Given the description of an element on the screen output the (x, y) to click on. 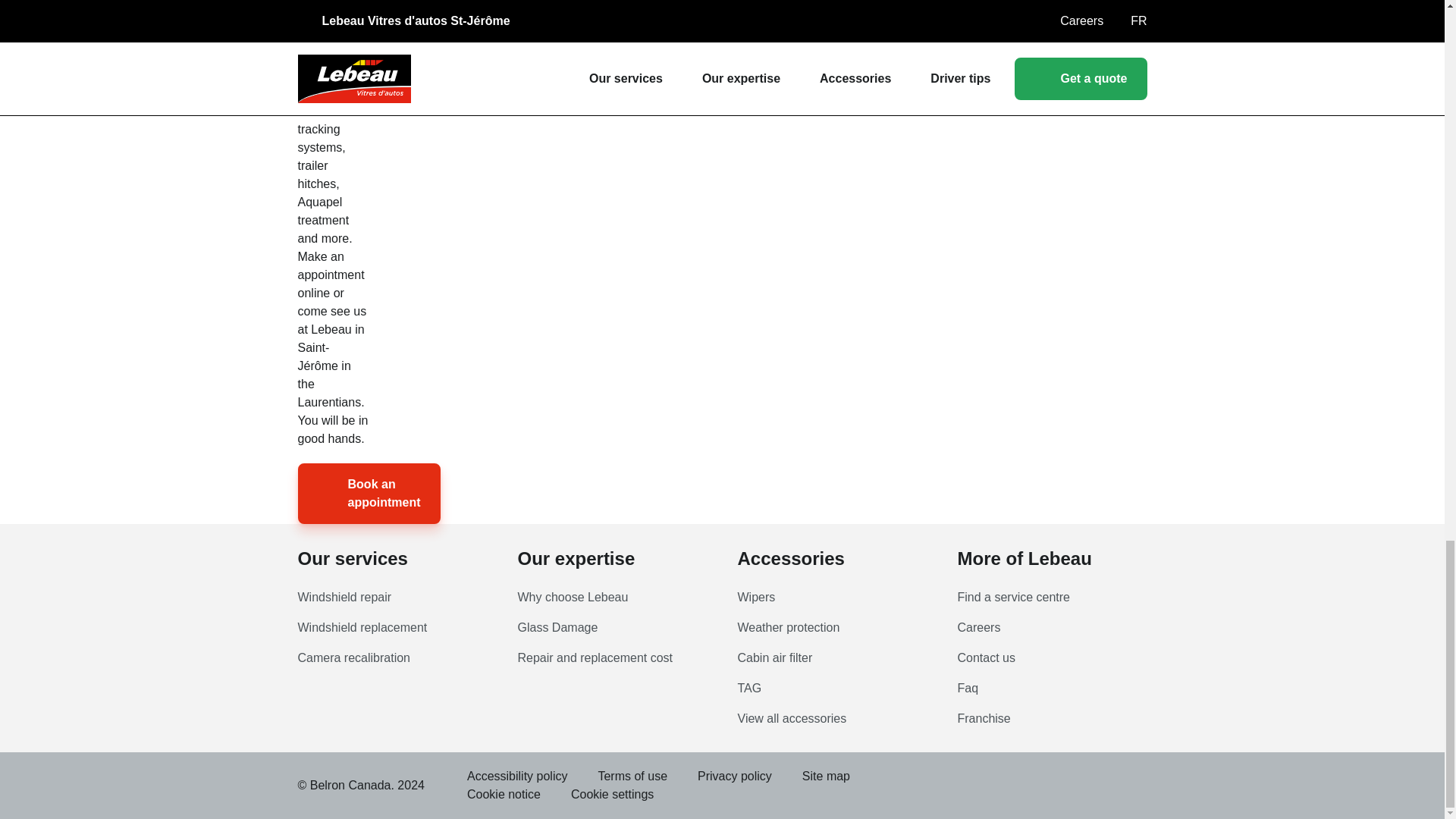
YouTube (889, 776)
